Given the description of an element on the screen output the (x, y) to click on. 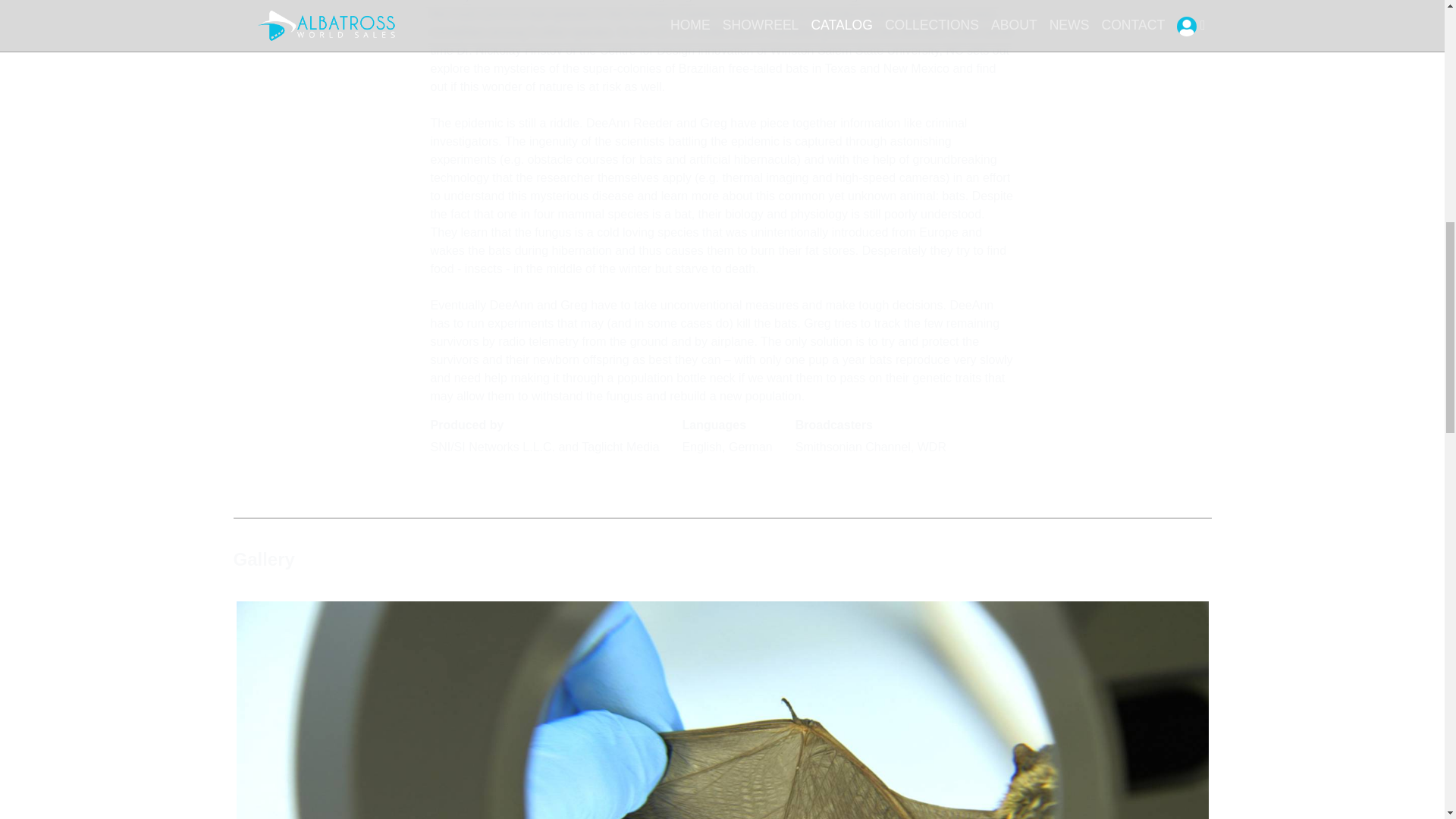
Add to My List (473, 477)
